Given the description of an element on the screen output the (x, y) to click on. 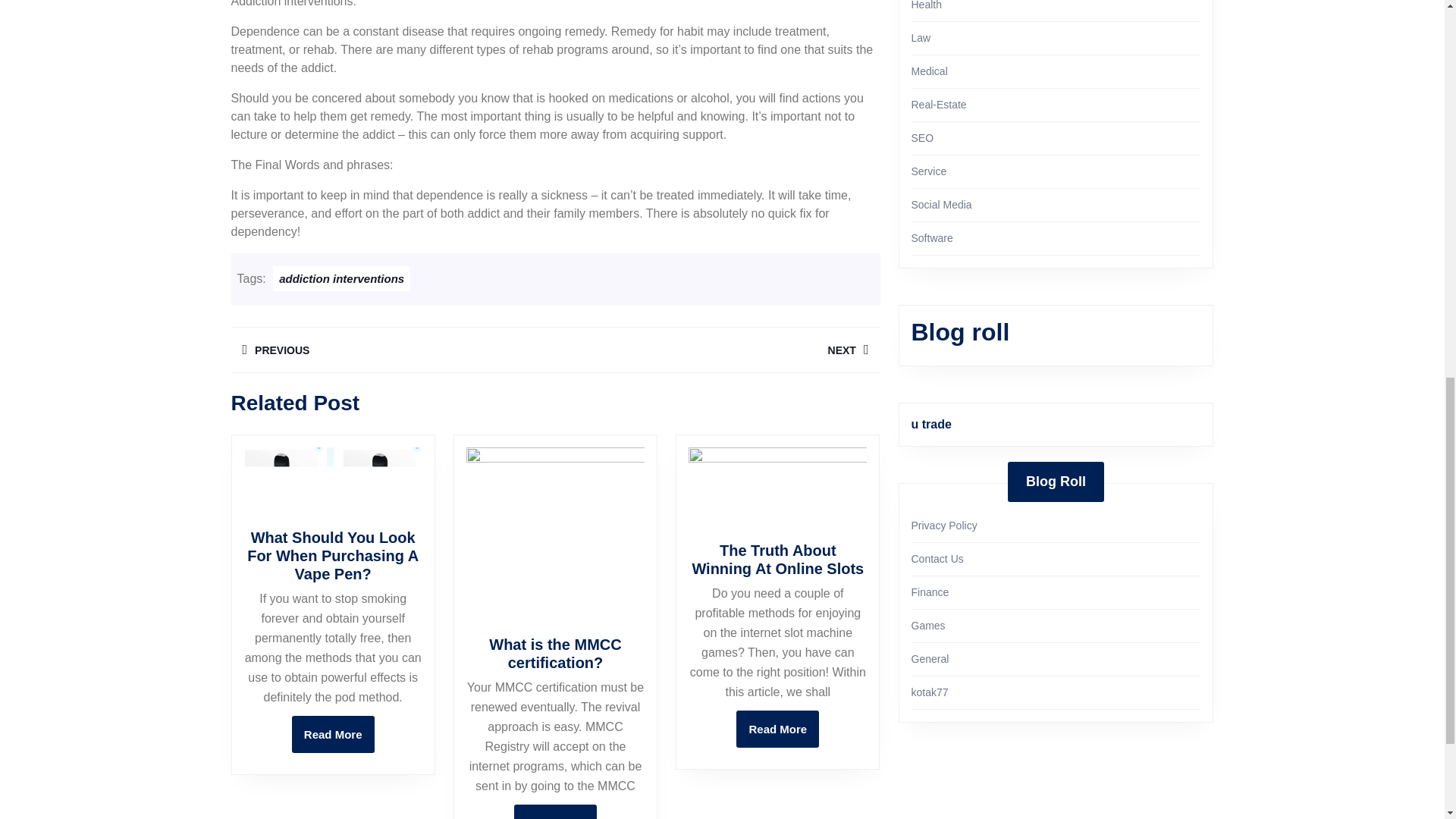
Health (777, 728)
Medical (926, 5)
addiction interventions (716, 349)
Law (333, 733)
